Given the description of an element on the screen output the (x, y) to click on. 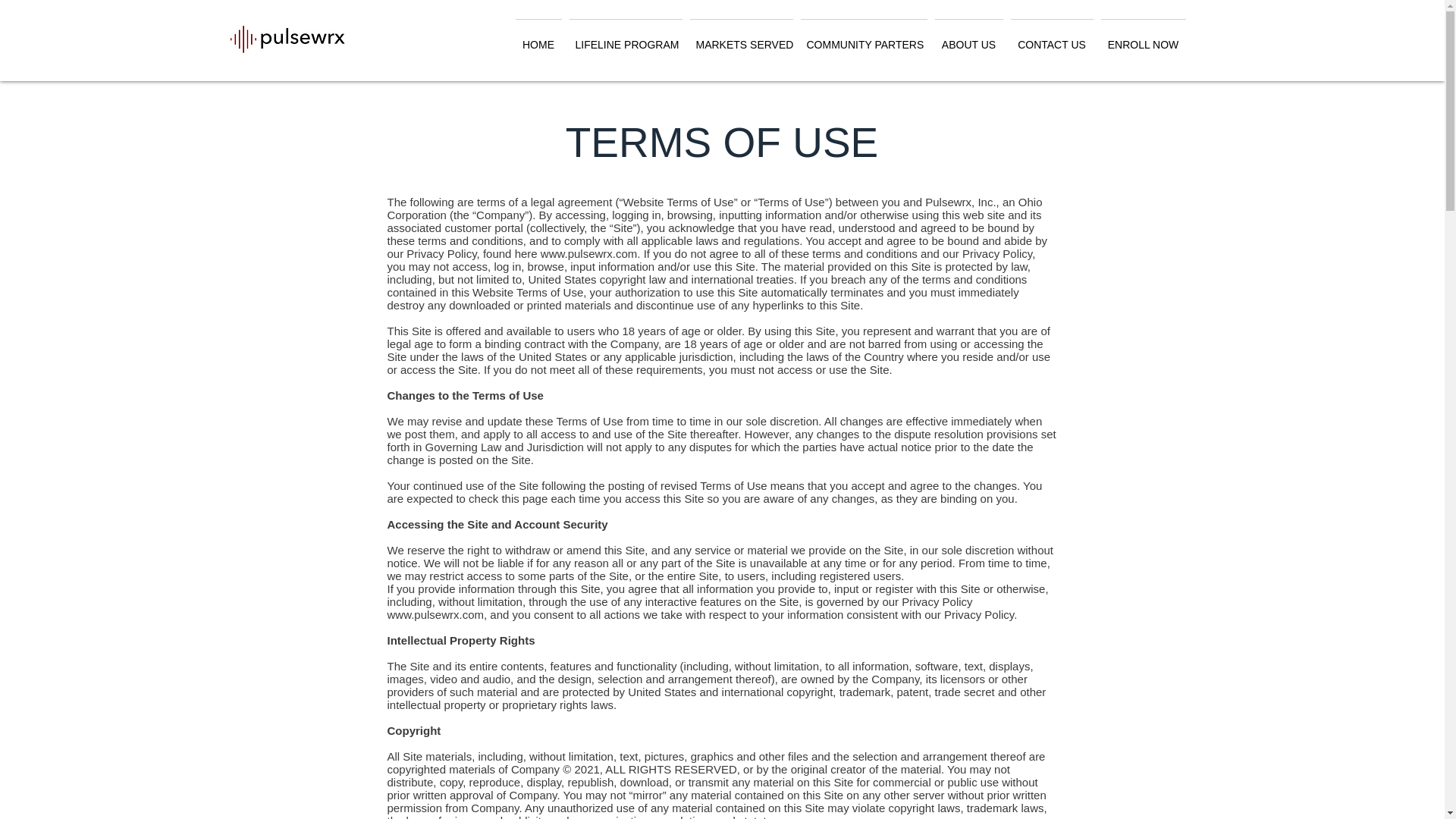
www.pulsewrx.com (435, 614)
COMMUNITY PARTERS (863, 37)
HOME (537, 37)
LIFELINE PROGRAM (625, 37)
ENROLL NOW (1142, 37)
www.pulsewrx.com (588, 253)
ABOUT US (969, 37)
CONTACT US (1052, 37)
